Given the description of an element on the screen output the (x, y) to click on. 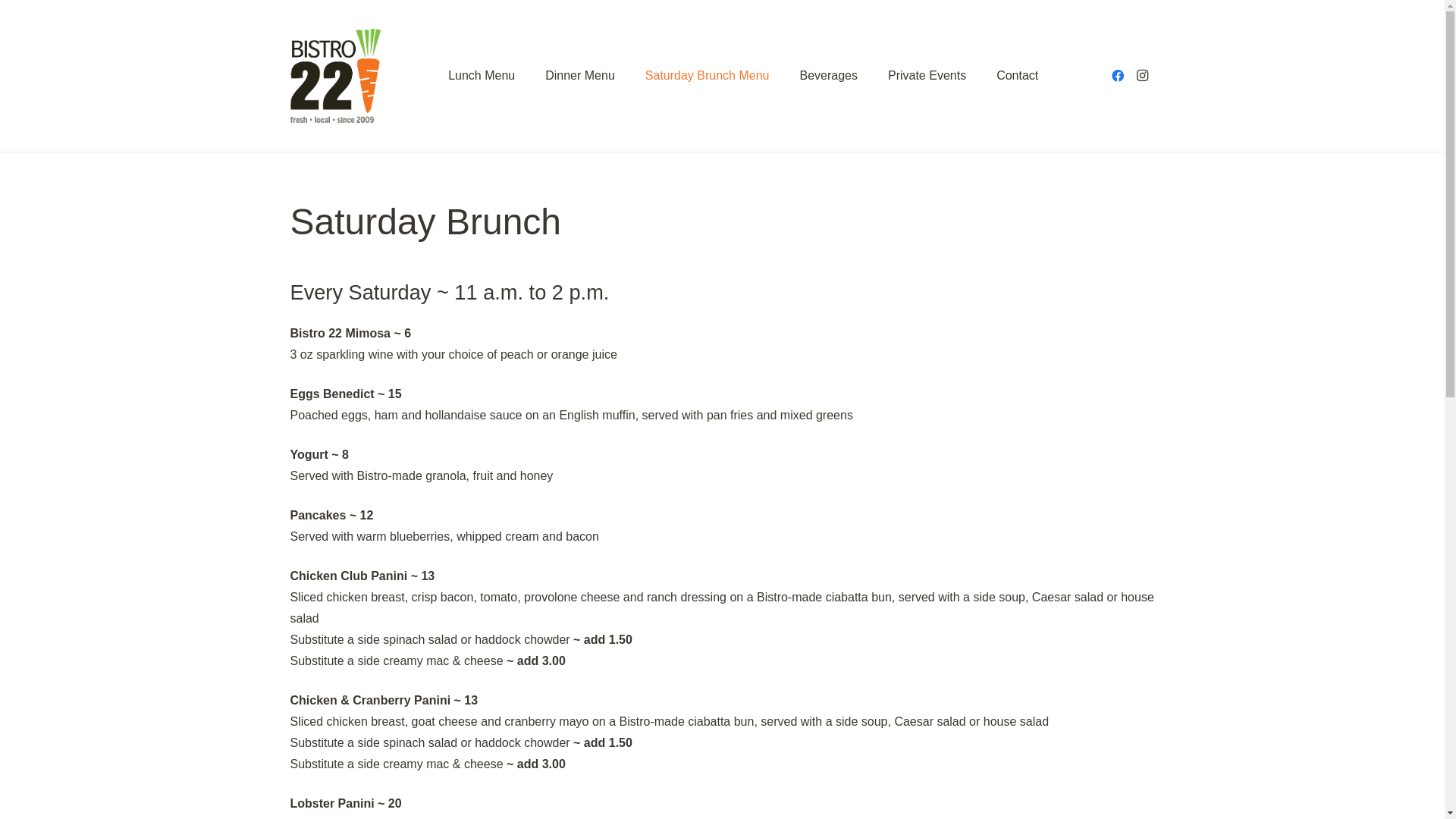
Private Events Element type: text (926, 75)
Facebook Element type: hover (1117, 75)
Saturday Brunch Menu Element type: text (707, 75)
Contact Element type: text (1017, 75)
Lunch Menu Element type: text (481, 75)
Beverages Element type: text (828, 75)
Instagram Element type: hover (1141, 75)
Dinner Menu Element type: text (580, 75)
